Given the description of an element on the screen output the (x, y) to click on. 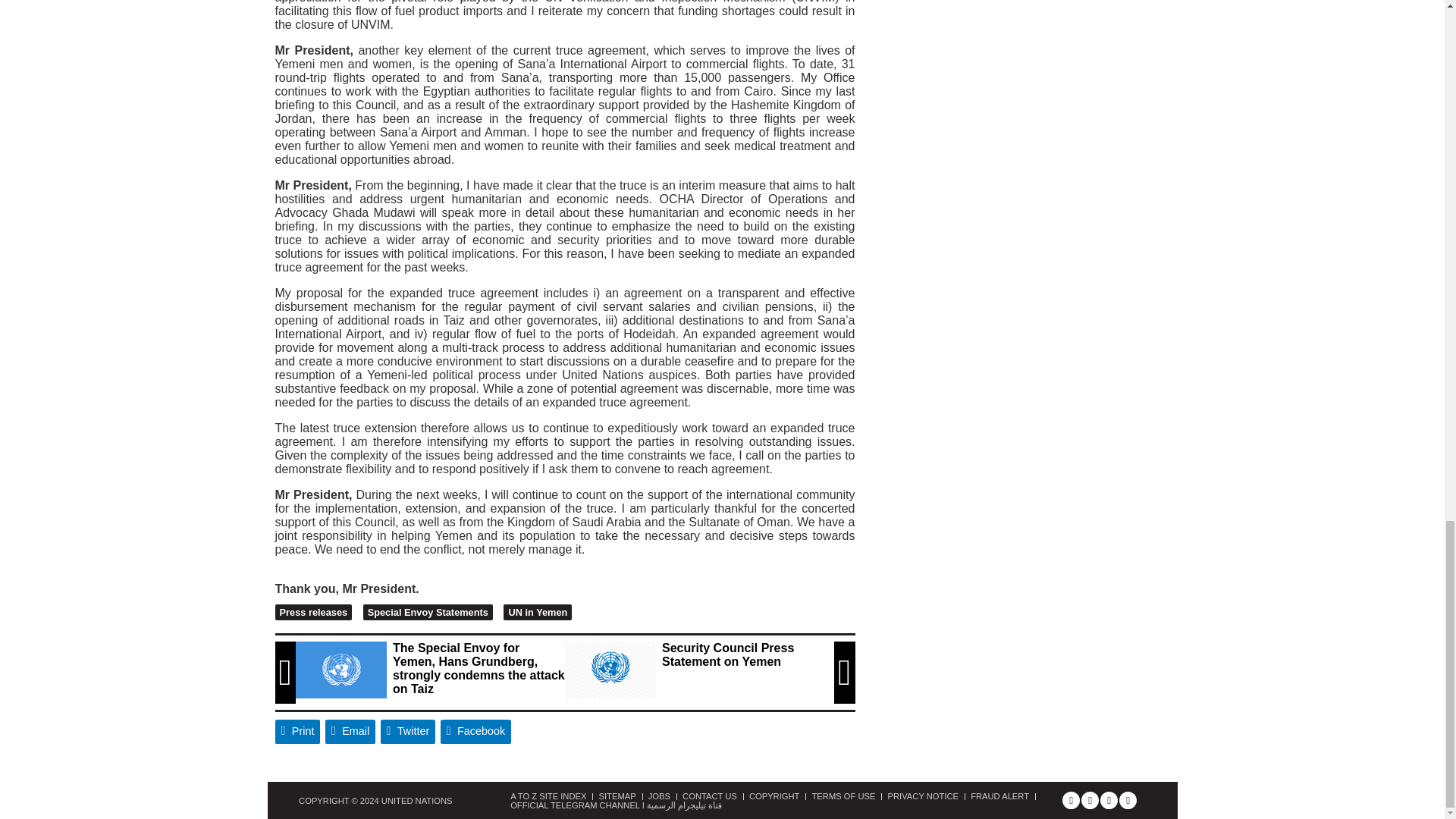
Security Council Press Statement on Yemen (610, 669)
Facebook (476, 731)
Email (349, 731)
Twitter (407, 731)
Print (297, 731)
